Given the description of an element on the screen output the (x, y) to click on. 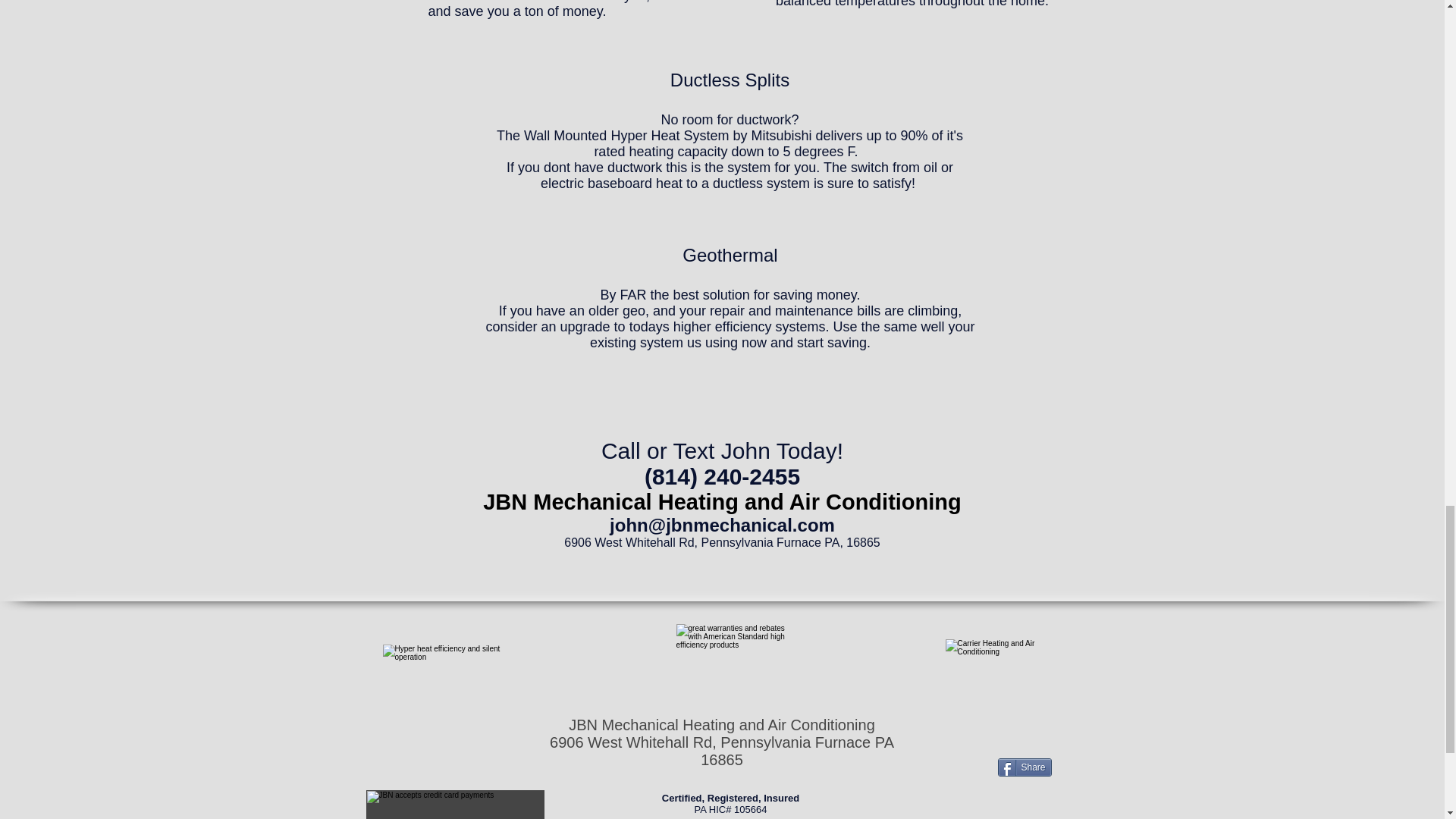
Share (1024, 767)
air conditioning service and repairs by JBN Mechanical LLC (1004, 663)
high efficincy heating and airconditionig JBN Mechanical LLC (731, 662)
Mitsubishi Ductless Splits (443, 662)
Share (1024, 767)
